Given the description of an element on the screen output the (x, y) to click on. 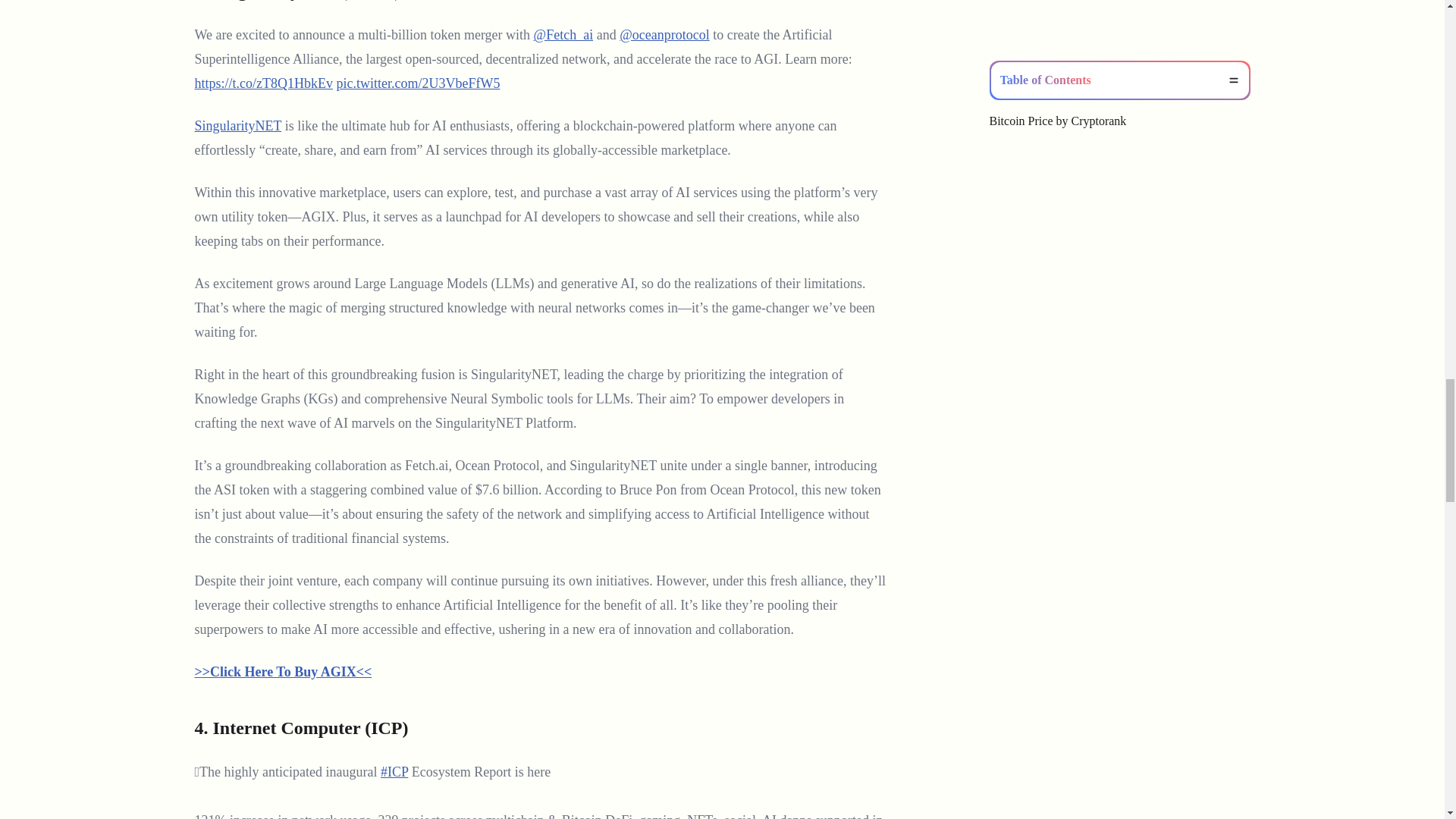
SingularityNET (237, 125)
